Given the description of an element on the screen output the (x, y) to click on. 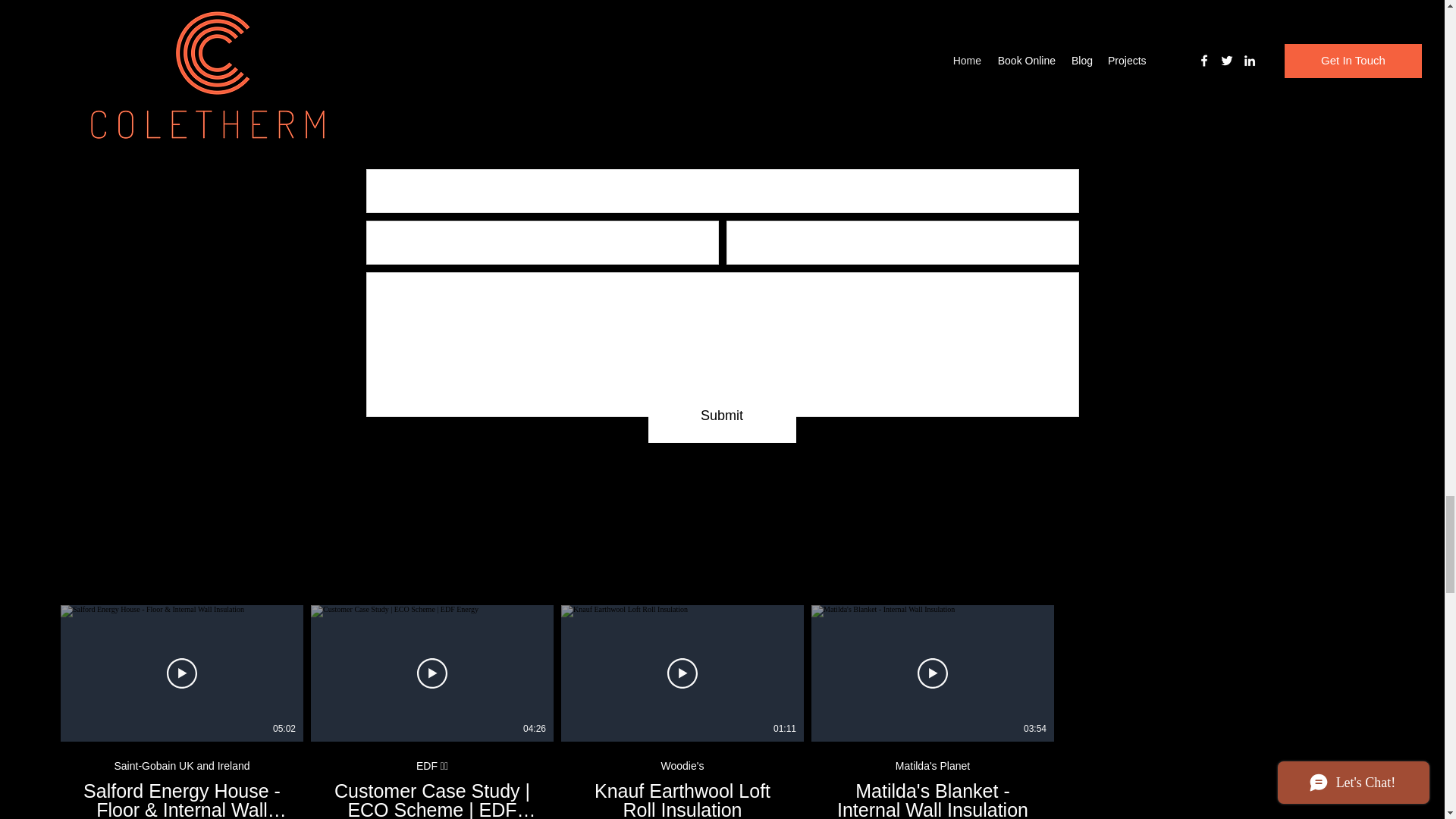
Knauf Earthwool Loft Roll Insulation (682, 799)
Matilda's Blanket - Internal Wall Insulation (933, 799)
Submit (681, 780)
